Given the description of an element on the screen output the (x, y) to click on. 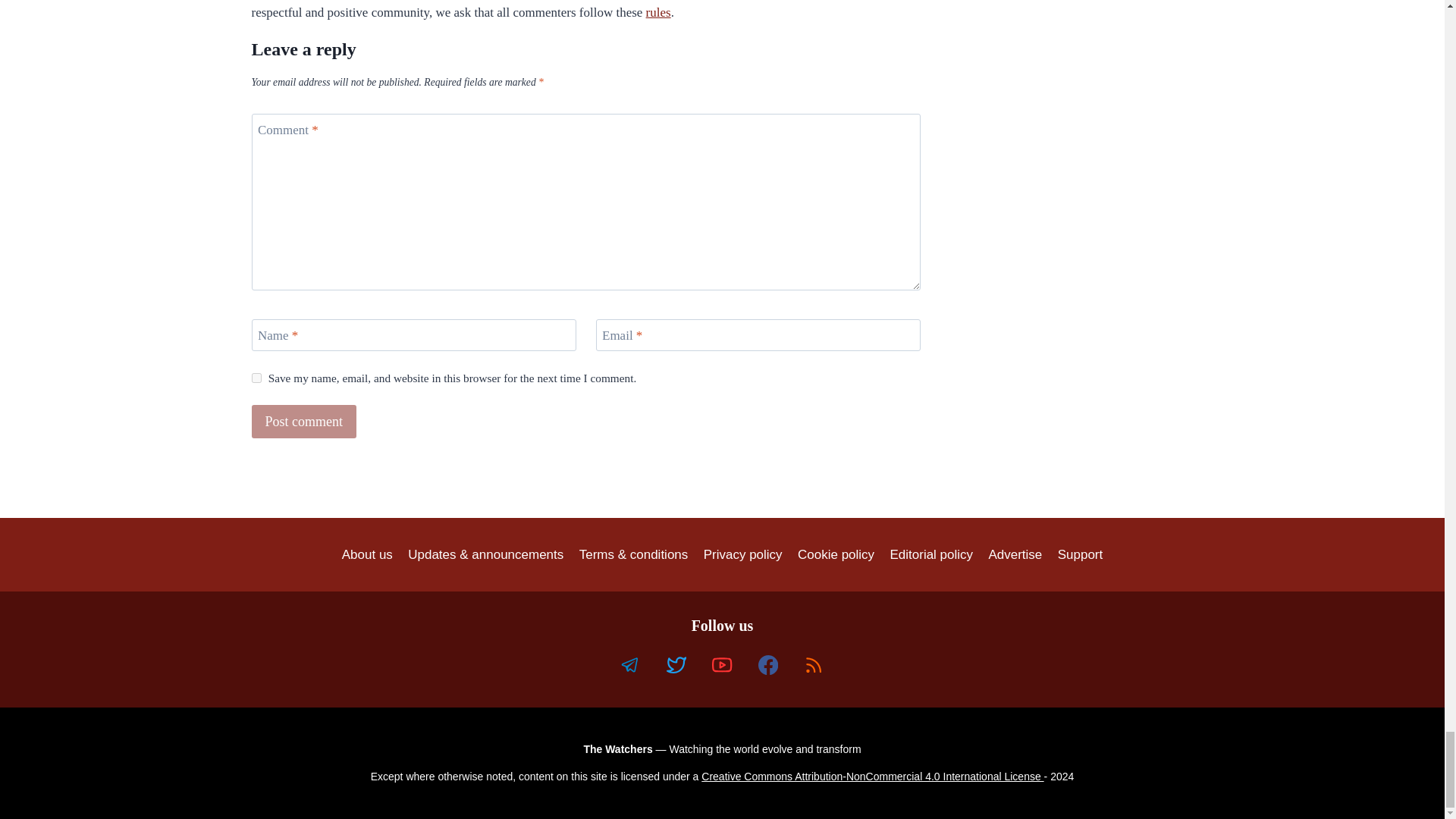
yes (256, 378)
Post comment (303, 420)
